Given the description of an element on the screen output the (x, y) to click on. 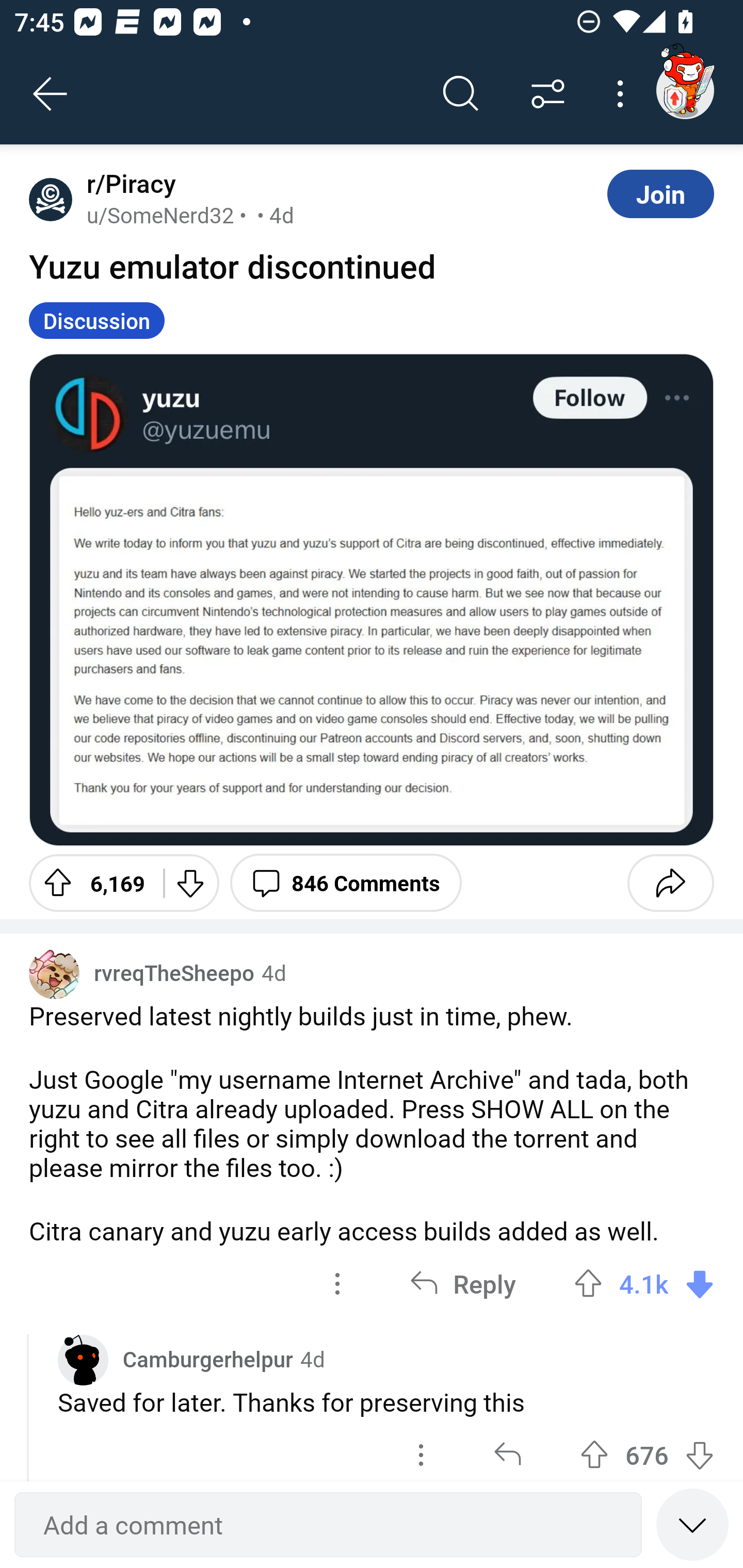
Back (50, 93)
TestAppium002 account (685, 90)
Search comments (460, 93)
Sort comments (547, 93)
More options (623, 93)
r/Piracy (127, 183)
Join (660, 193)
Avatar (50, 199)
Discussion (96, 320)
Image (371, 599)
Upvote 6,169 (88, 882)
Downvote (189, 882)
846 Comments (346, 882)
Share (670, 882)
Avatar (53, 973)
options (337, 1284)
Reply (462, 1284)
Upvote 4.1k 4105 votes Downvote (643, 1284)
Custom avatar (82, 1359)
Saved for later. Thanks for preserving this (385, 1401)
options (420, 1450)
Upvote 676 676 votes Downvote (647, 1450)
Speed read (692, 1524)
Add a comment (327, 1524)
